Given the description of an element on the screen output the (x, y) to click on. 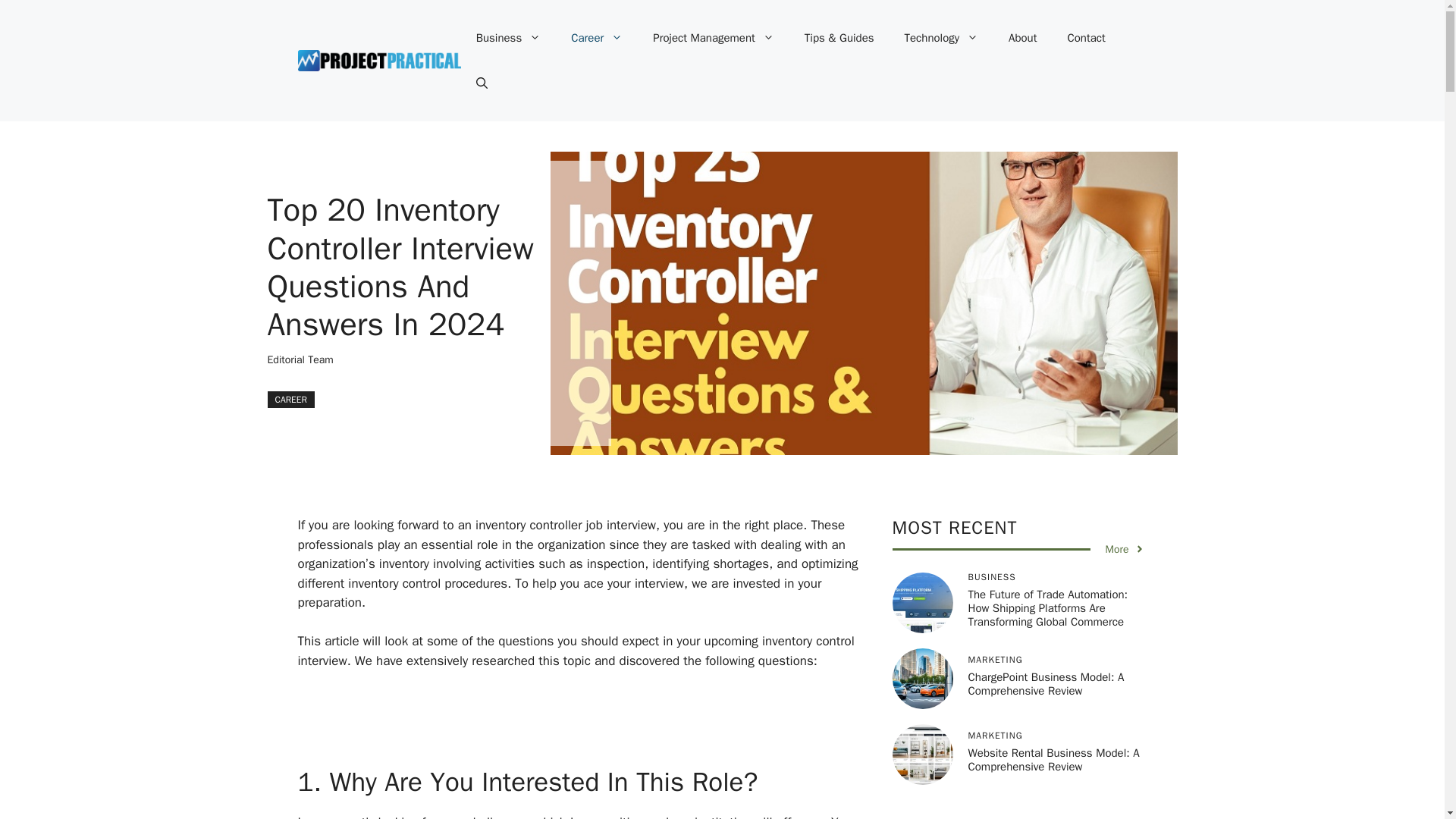
Business (508, 37)
Technology (941, 37)
About (1021, 37)
Contact (1086, 37)
Career (596, 37)
More (1124, 549)
CAREER (290, 399)
Project Management (713, 37)
ChargePoint Business Model: A Comprehensive Review (1046, 683)
